Given the description of an element on the screen output the (x, y) to click on. 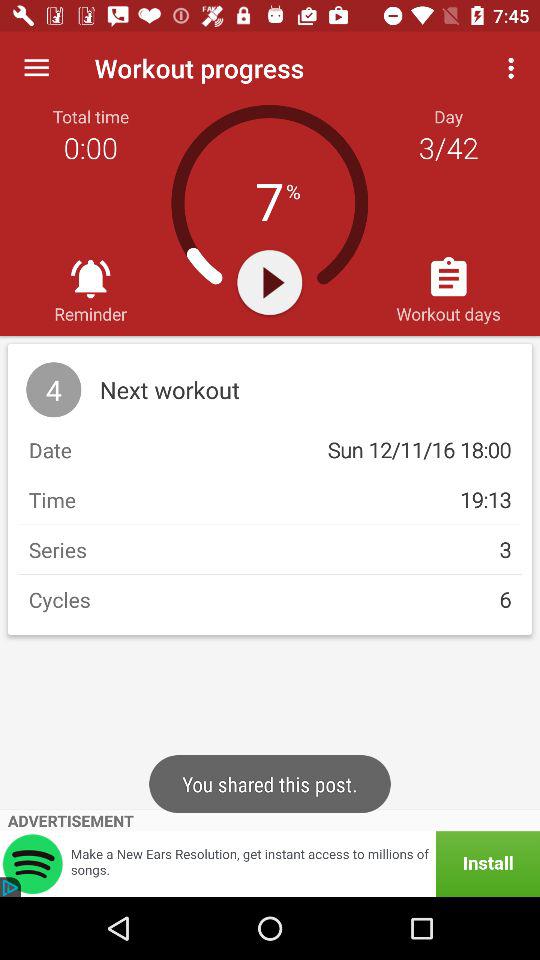
advertisement for spotify (270, 864)
